Given the description of an element on the screen output the (x, y) to click on. 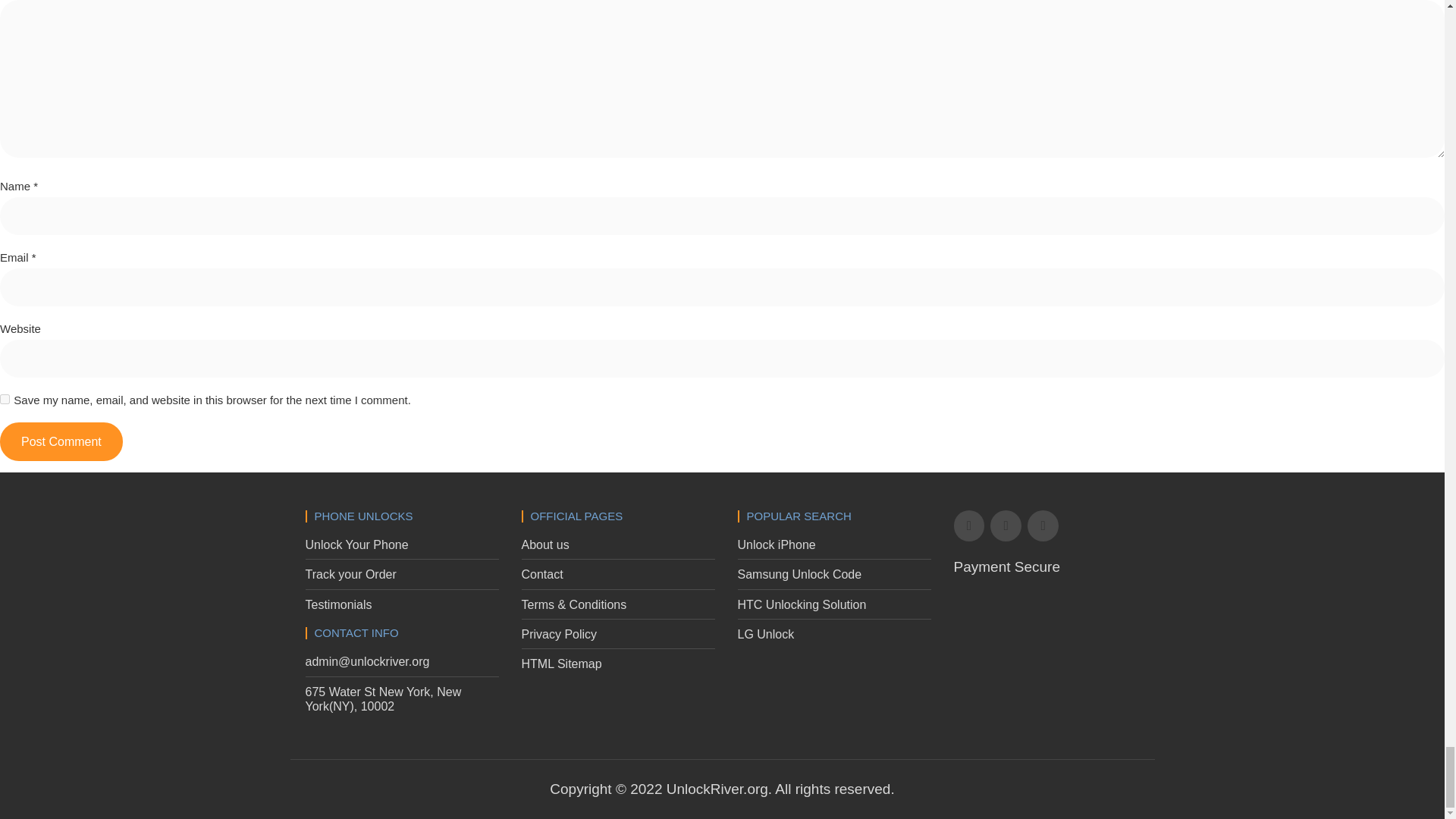
yes (5, 398)
Post Comment (61, 441)
